Given the description of an element on the screen output the (x, y) to click on. 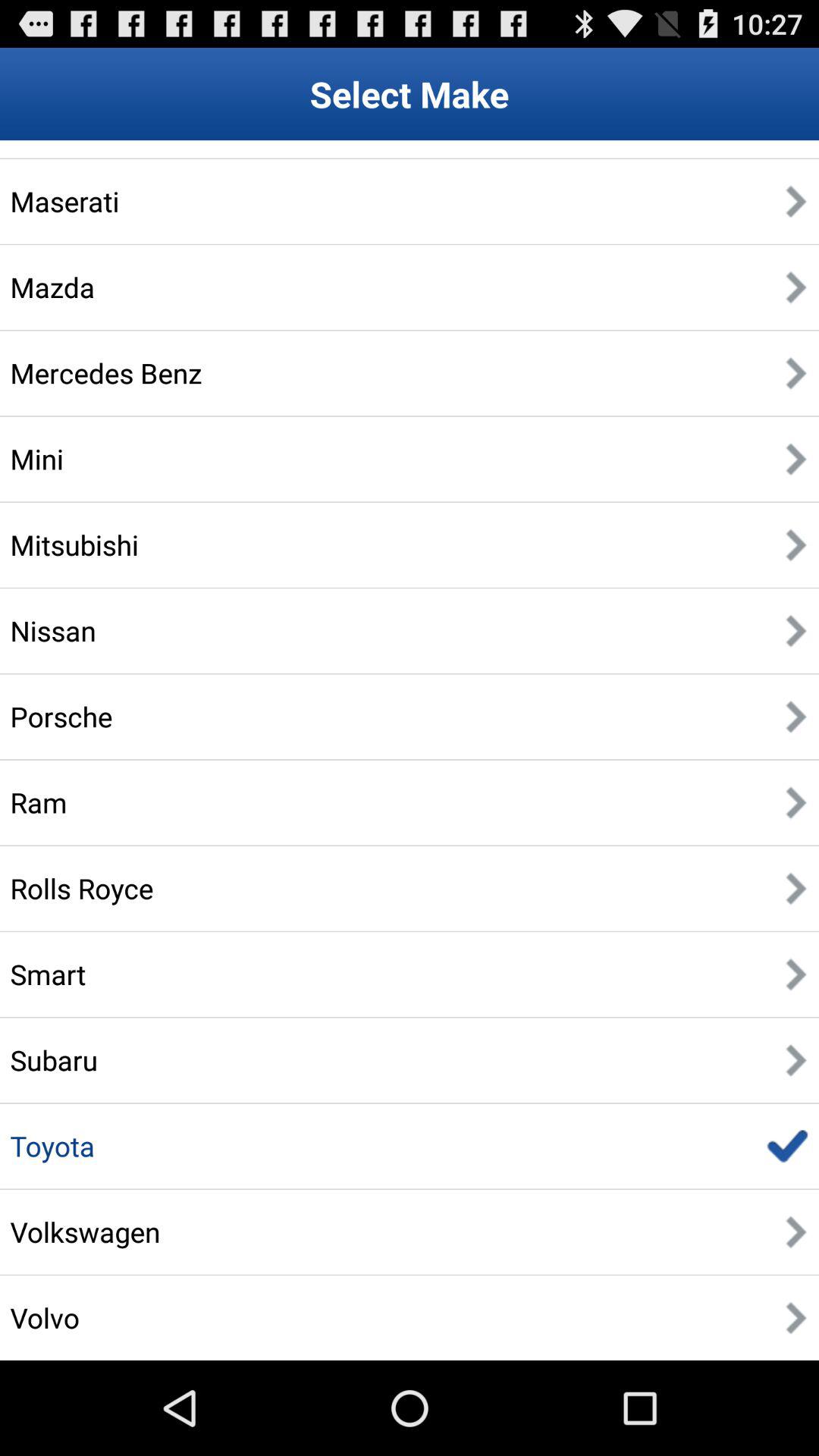
open the item above the volvo icon (85, 1231)
